Given the description of an element on the screen output the (x, y) to click on. 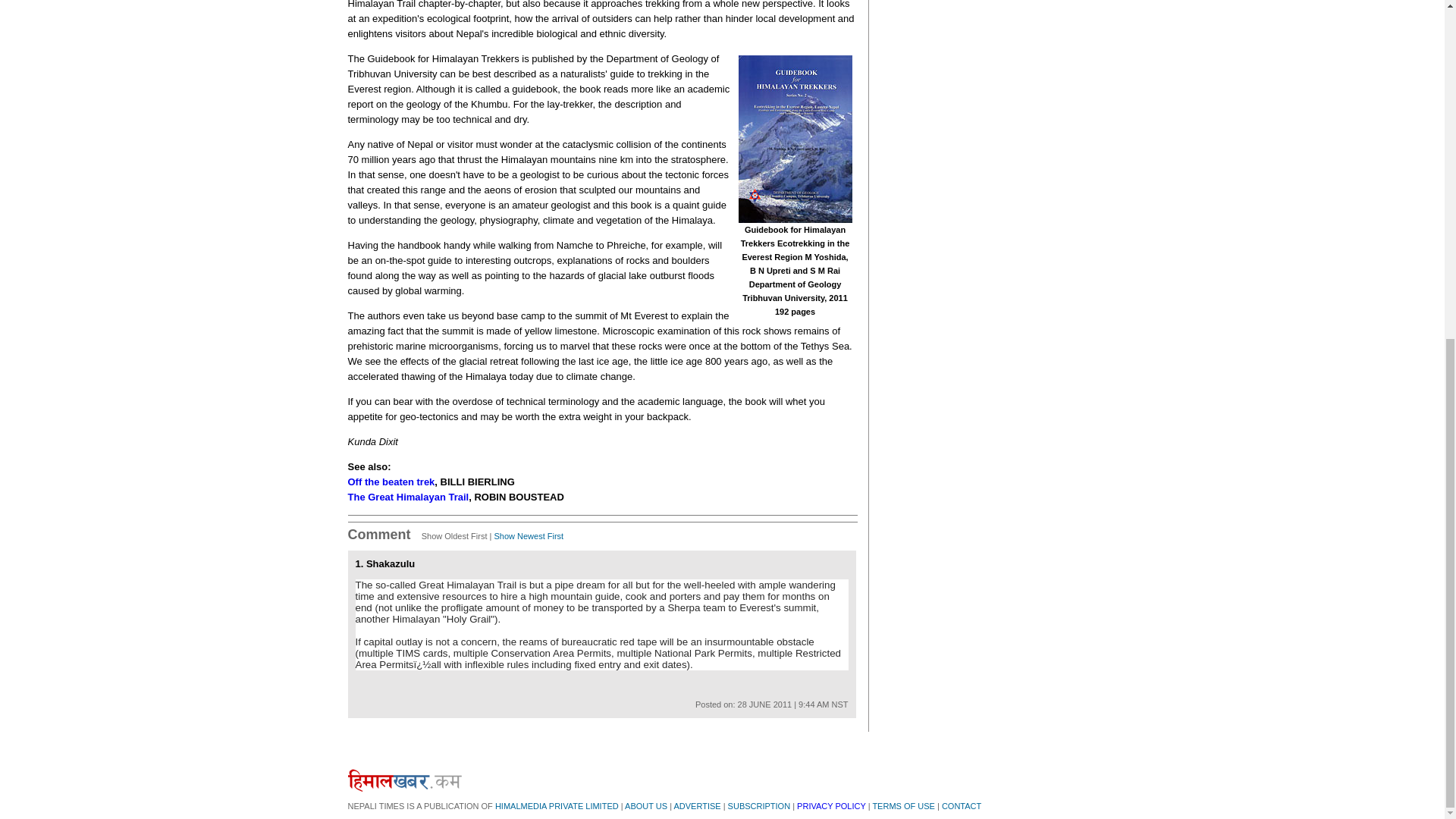
Show Newest First (528, 535)
PRIVACY POLICY (830, 805)
himalkhabar.com (404, 780)
ADVERTISE (696, 805)
CONTACT (961, 805)
Off the beaten trek (390, 481)
SUBSCRIPTION (759, 805)
The Great Himalayan Trail (407, 496)
TERMS OF USE (903, 805)
ABOUT US (645, 805)
Show Newest First (528, 535)
HIMALMEDIA PRIVATE LIMITED (556, 805)
